Given the description of an element on the screen output the (x, y) to click on. 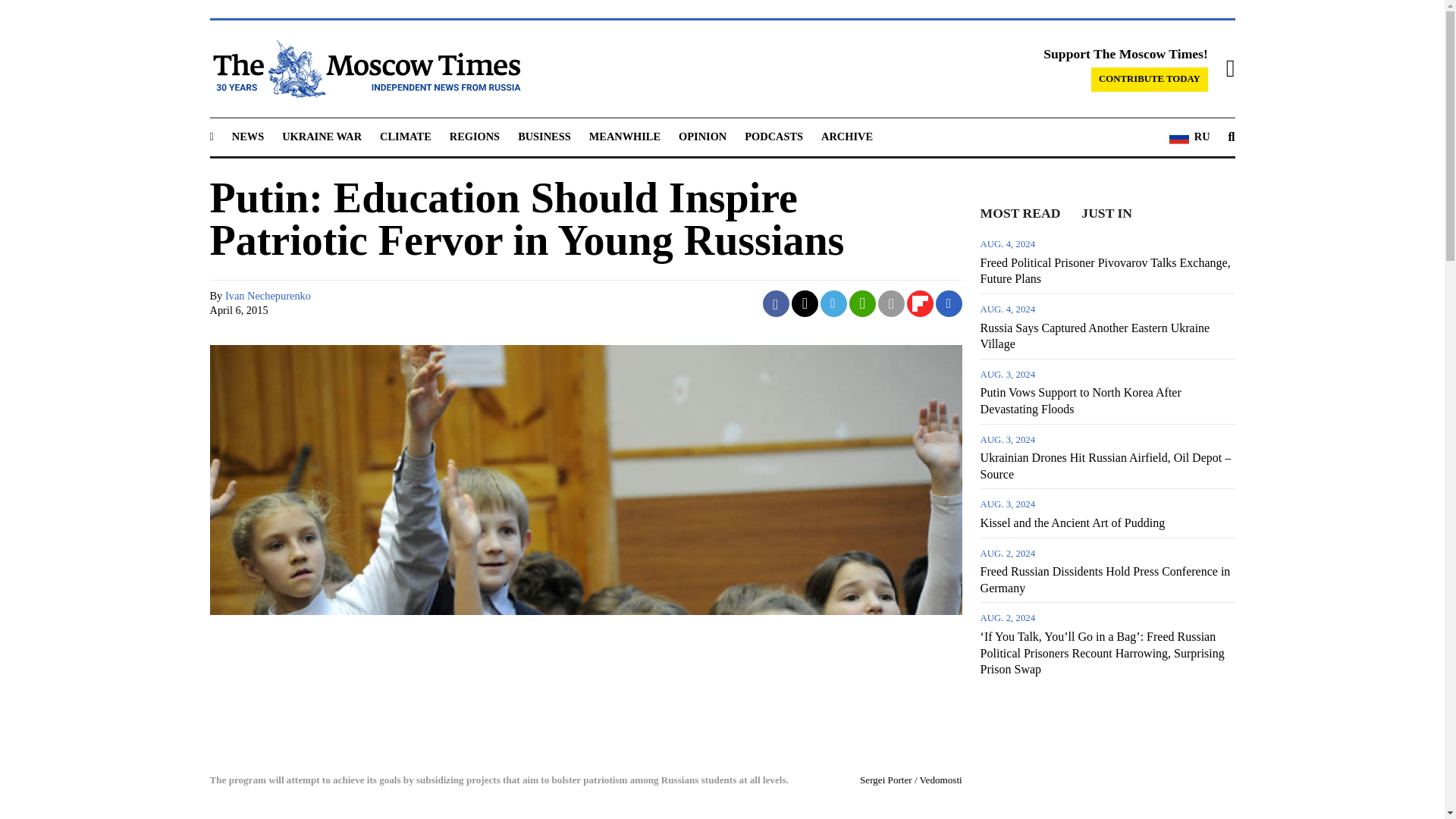
OPINION (702, 136)
ARCHIVE (846, 136)
BUSINESS (544, 136)
NEWS (247, 136)
RU (1189, 137)
PODCASTS (773, 136)
CLIMATE (405, 136)
Share on Telegram (834, 303)
Russia Says Captured Another Eastern Ukraine Village (1106, 325)
The Moscow Times - Independent News from Russia (364, 68)
REGIONS (474, 136)
Share on Twitter (805, 303)
CONTRIBUTE TODAY (1149, 79)
UKRAINE WAR (321, 136)
